Given the description of an element on the screen output the (x, y) to click on. 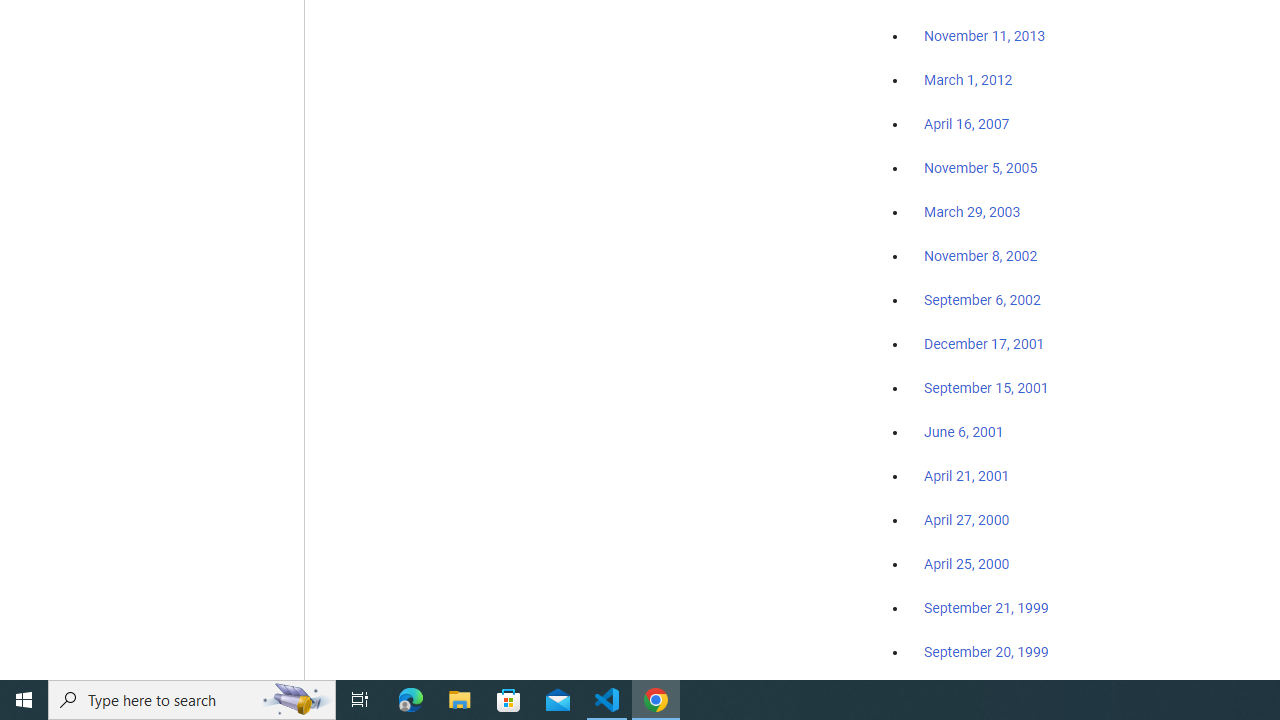
April 21, 2001 (966, 476)
April 16, 2007 (966, 124)
November 5, 2005 (981, 168)
November 11, 2013 (984, 37)
March 1, 2012 (968, 81)
September 20, 1999 (986, 651)
November 8, 2002 (981, 255)
April 25, 2000 (966, 564)
December 17, 2001 (984, 343)
September 21, 1999 (986, 608)
April 27, 2000 (966, 520)
March 29, 2003 (972, 212)
June 6, 2001 (963, 431)
September 6, 2002 (982, 299)
September 15, 2001 (986, 387)
